Given the description of an element on the screen output the (x, y) to click on. 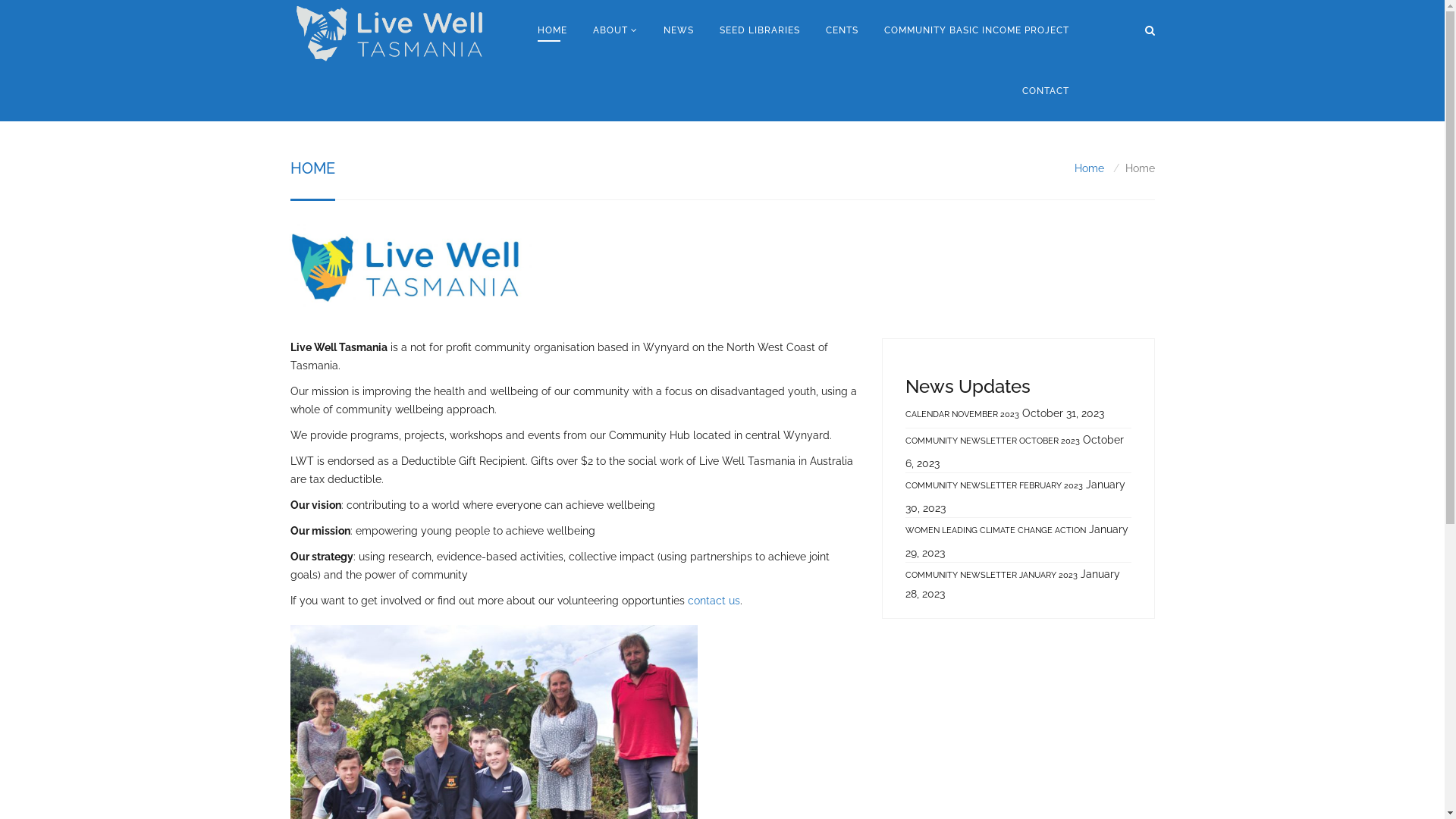
WOMEN LEADING CLIMATE CHANGE ACTION Element type: text (995, 530)
COMMUNITY BASIC INCOME PROJECT Element type: text (976, 30)
ABOUT Element type: text (615, 30)
SEED LIBRARIES Element type: text (759, 30)
CONTACT Element type: text (1045, 90)
COMMUNITY NEWSLETTER OCTOBER 2023 Element type: text (992, 441)
NEWS Element type: text (678, 30)
contact us Element type: text (713, 600)
HOME Element type: text (552, 30)
COMMUNITY NEWSLETTER FEBRUARY 2023 Element type: text (993, 485)
CENTS Element type: text (841, 30)
CALENDAR NOVEMBER 2023 Element type: text (962, 416)
Home Element type: text (1088, 168)
COMMUNITY NEWSLETTER JANUARY 2023 Element type: text (991, 573)
